Given the description of an element on the screen output the (x, y) to click on. 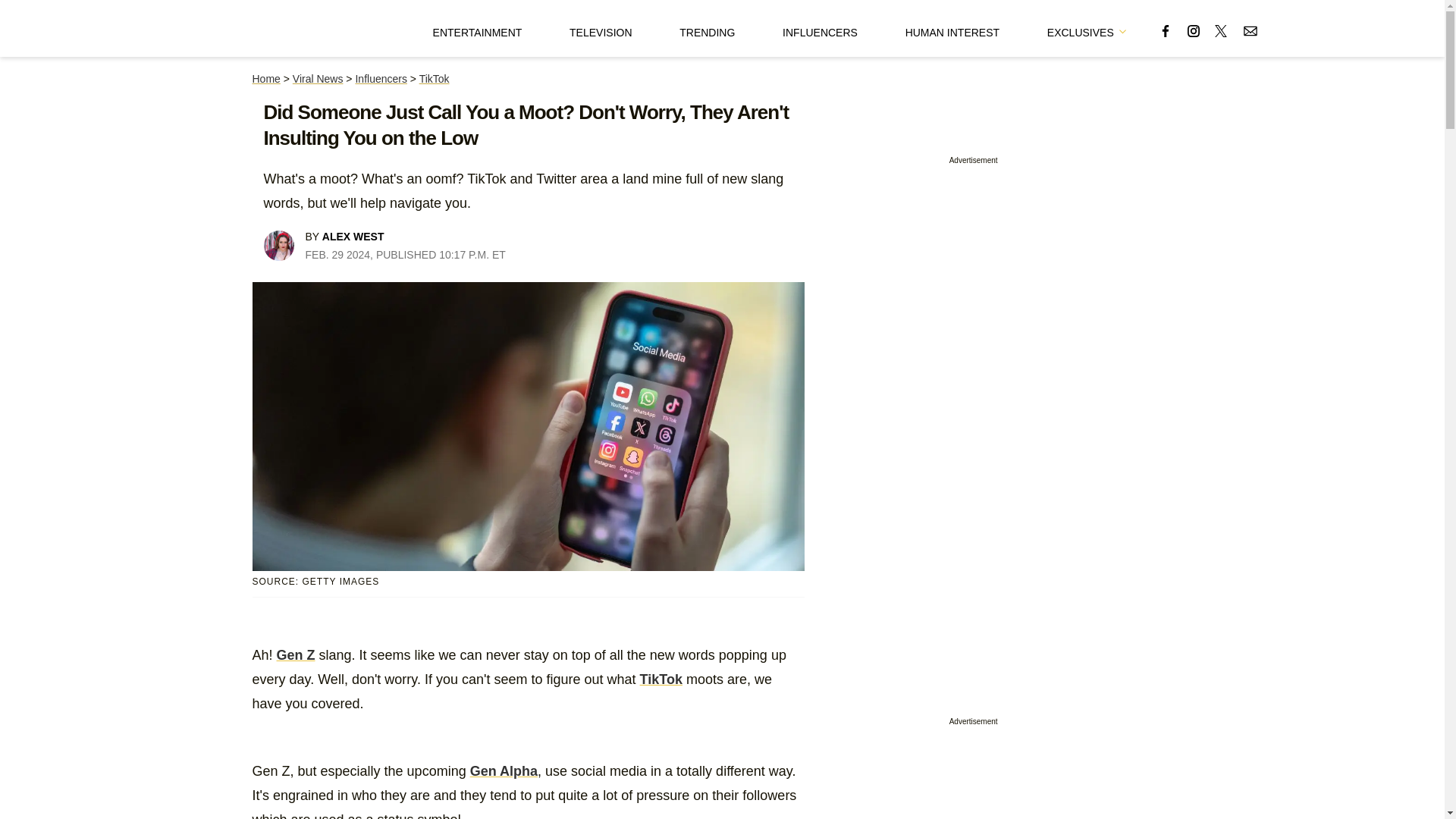
INFLUENCERS (820, 27)
LINK TO FACEBOOK (1165, 30)
LINK TO EMAIL SUBSCRIBE (1250, 28)
TRENDING (707, 27)
ENTERTAINMENT (477, 27)
TikTok (661, 679)
LINK TO X (1220, 30)
TikTok (434, 78)
TELEVISION (600, 27)
Gen Z (295, 654)
HUMAN INTEREST (951, 27)
LINK TO FACEBOOK (1165, 27)
Viral News (317, 78)
LINK TO X (1220, 27)
Home (265, 78)
